Given the description of an element on the screen output the (x, y) to click on. 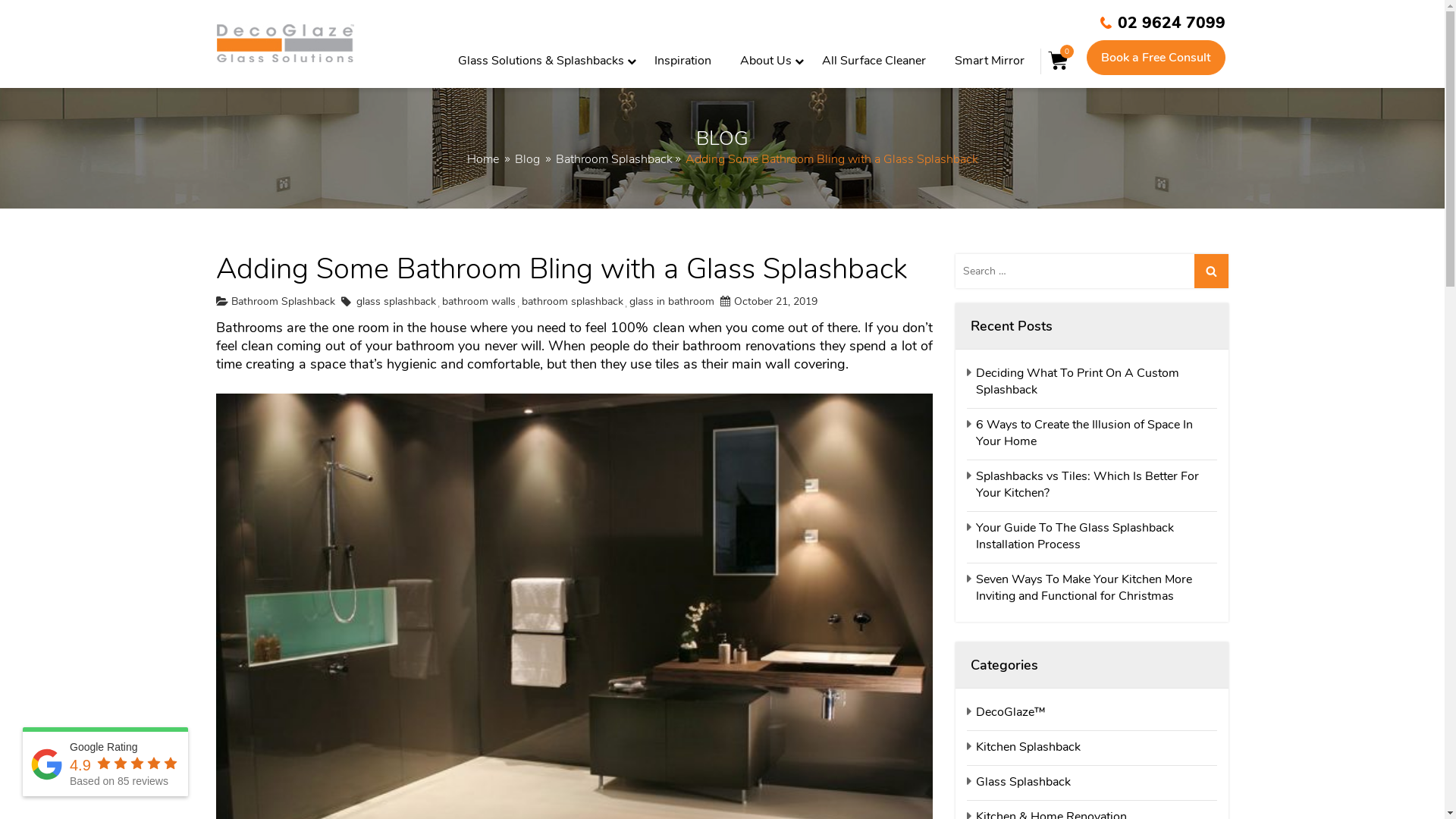
Glass Splashback Element type: text (1018, 781)
Deciding What To Print On A Custom Splashback Element type: text (1091, 381)
bathroom splashback Element type: text (572, 301)
Bathroom Splashback Element type: text (613, 158)
October 21, 2019 Element type: text (768, 301)
glass splashback Element type: text (396, 301)
Bathroom Splashback Element type: text (282, 301)
DecoGlaze Element type: hover (284, 42)
bathroom walls Element type: text (477, 301)
6 Ways to Create the Illusion of Space In Your Home Element type: text (1091, 432)
Inspiration Element type: text (682, 64)
0 Element type: text (1058, 59)
Blog Element type: text (526, 158)
DecoGlaze Element type: hover (284, 43)
Book a Free Consult Element type: text (1155, 57)
02 9624 7099 Element type: text (1162, 22)
glass in bathroom Element type: text (671, 301)
Glass Solutions & Splashbacks Element type: text (534, 64)
Home Element type: text (482, 158)
All Surface Cleaner Element type: text (873, 64)
Kitchen Splashback Element type: text (1023, 746)
About Us Element type: text (759, 64)
Smart Mirror Element type: text (989, 64)
Splashbacks vs Tiles: Which Is Better For Your Kitchen? Element type: text (1091, 484)
Your Guide To The Glass Splashback Installation Process Element type: text (1091, 535)
